Given the description of an element on the screen output the (x, y) to click on. 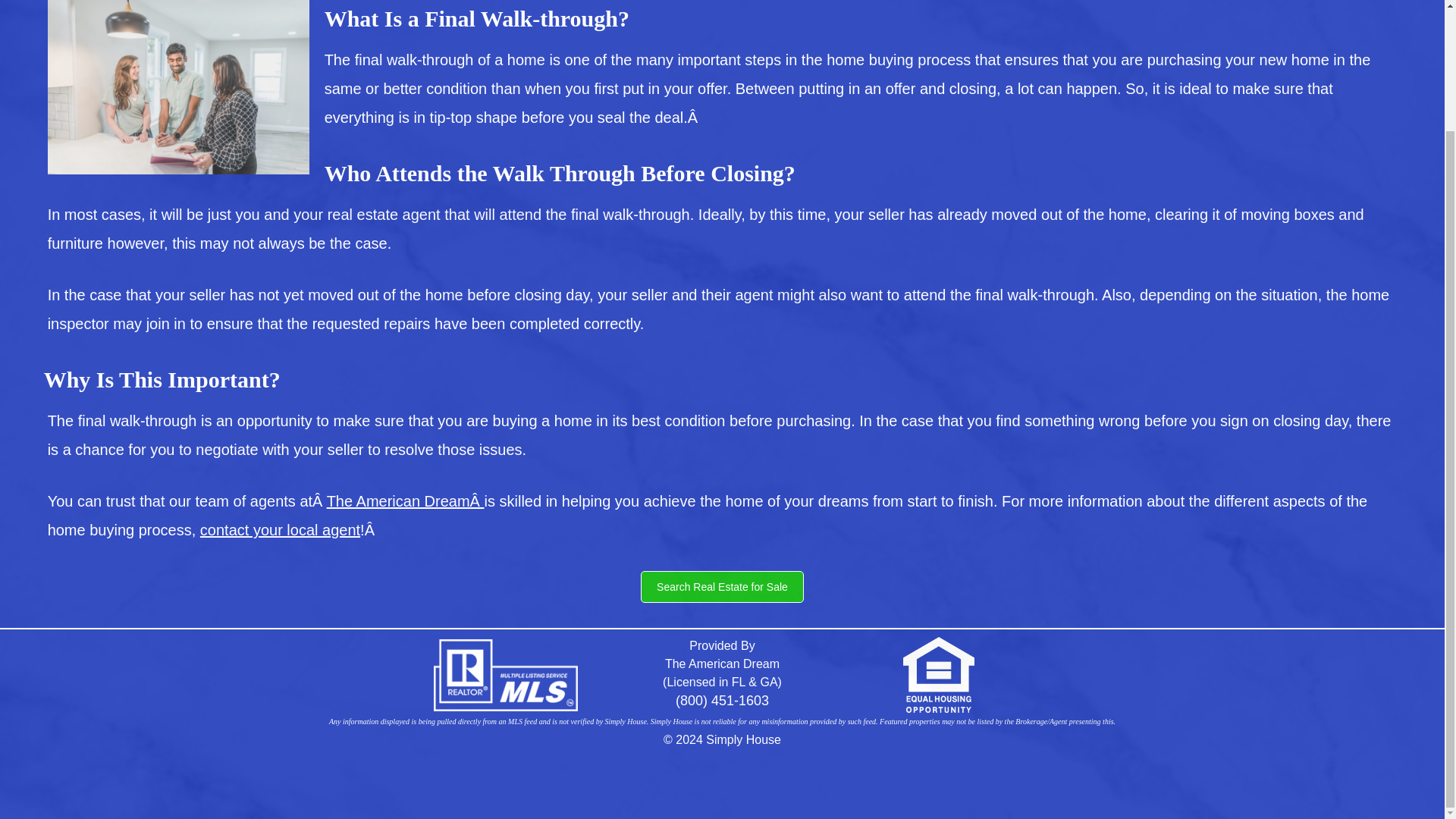
contact your local agent (279, 529)
Search Real Estate for Sale (721, 586)
